Given the description of an element on the screen output the (x, y) to click on. 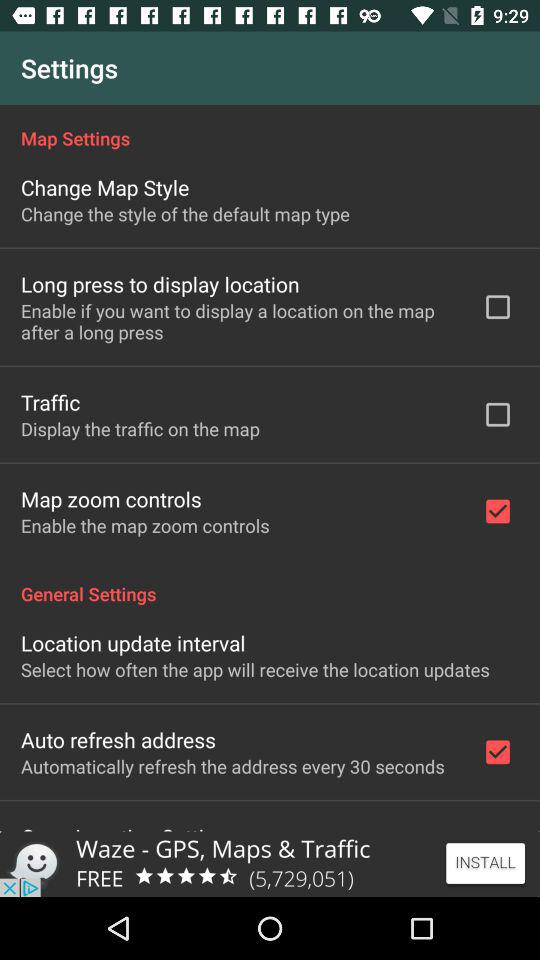
click app below open location settings item (270, 863)
